Given the description of an element on the screen output the (x, y) to click on. 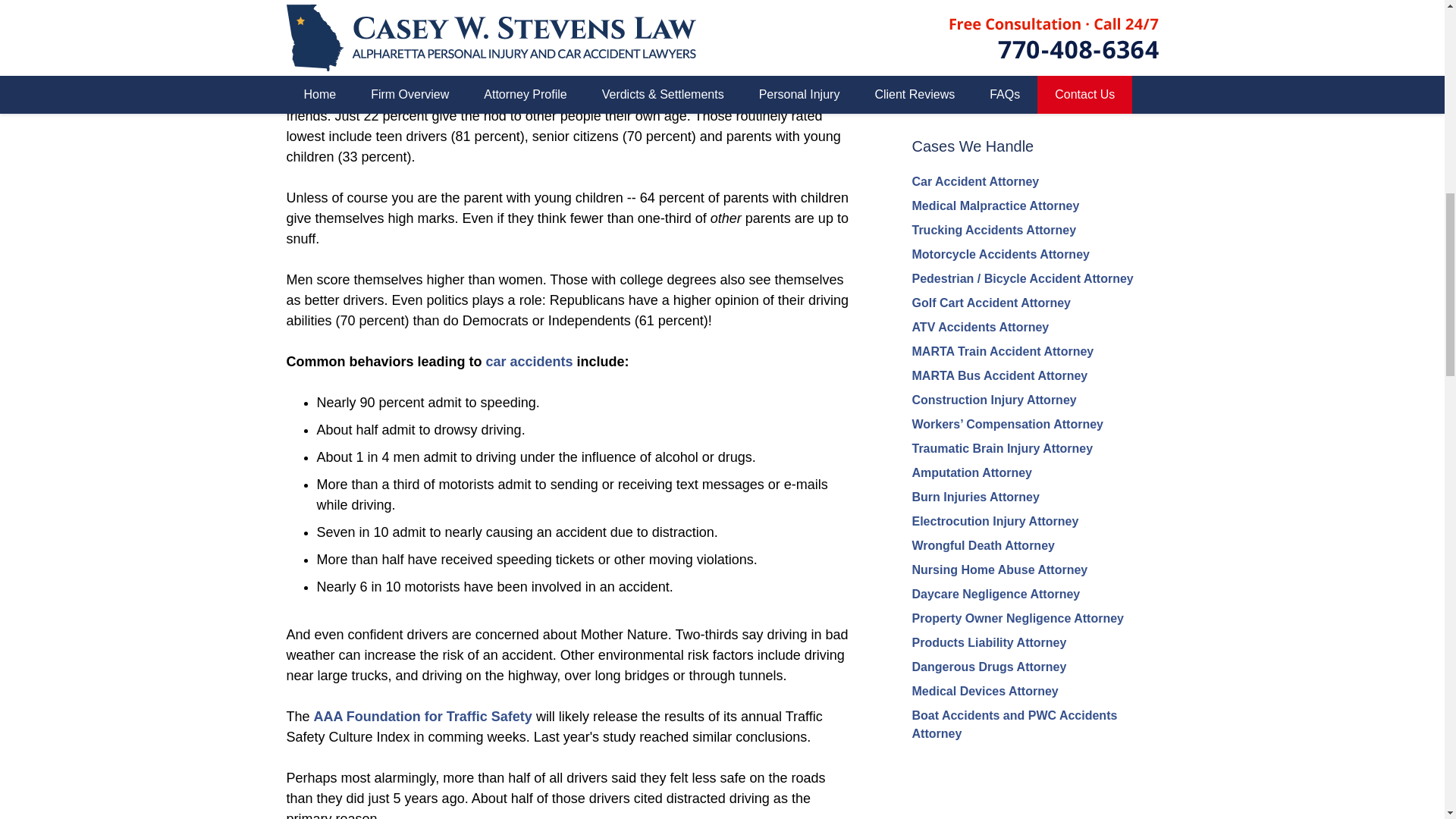
AAA Foundation for Traffic Safety (423, 716)
Golf Cart Accident Attorney (990, 302)
Trucking Accidents Attorney (993, 229)
Car Accident Attorney (975, 181)
Cases We Handle (972, 146)
Motorcycle Accidents Attorney (1000, 254)
Medical Malpractice Attorney (994, 205)
car accidents (529, 361)
ATV Accidents Attorney (979, 327)
MARTA Train Accident Attorney (1002, 350)
